Given the description of an element on the screen output the (x, y) to click on. 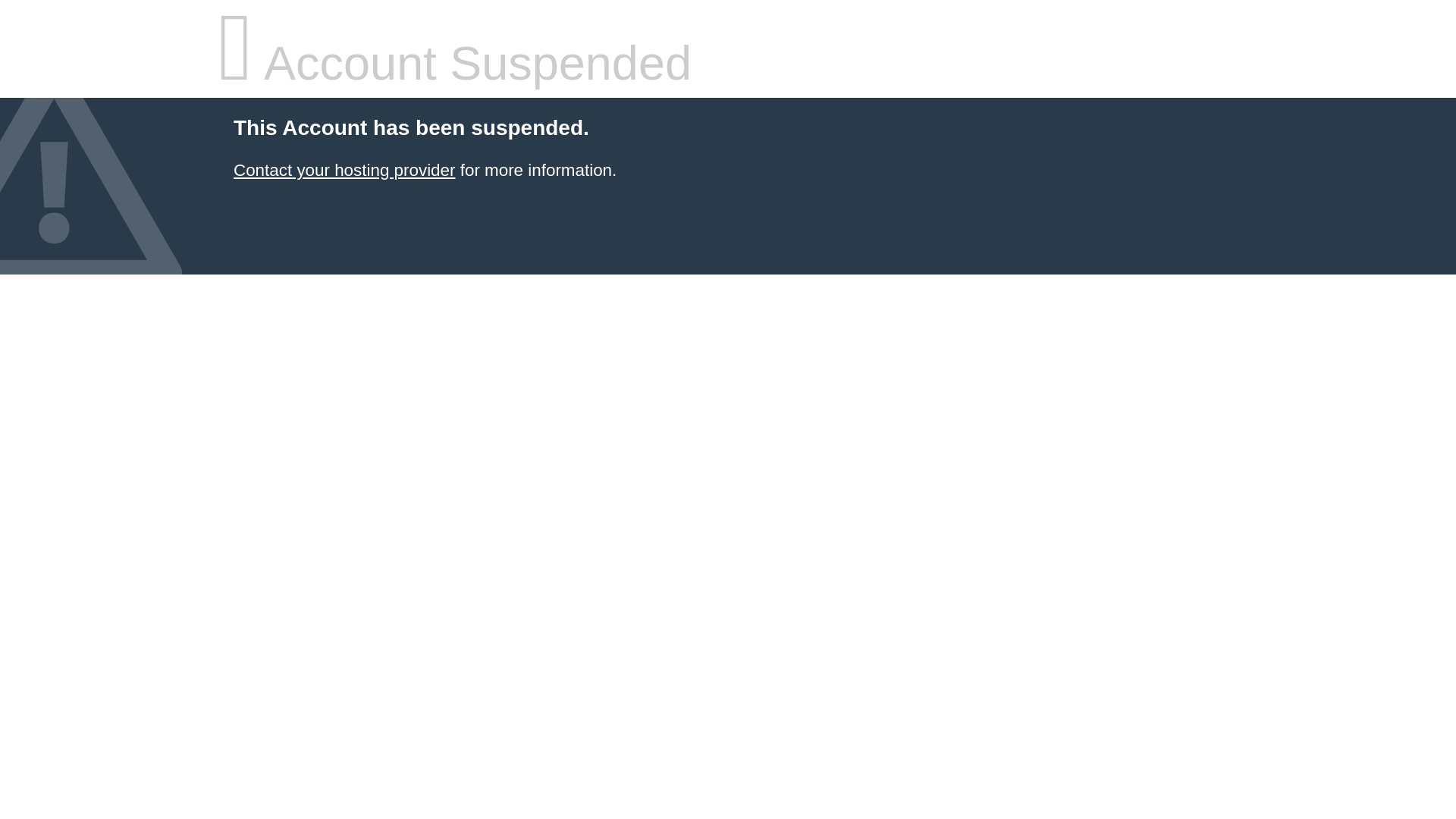
Contact your hosting provider (343, 169)
